Given the description of an element on the screen output the (x, y) to click on. 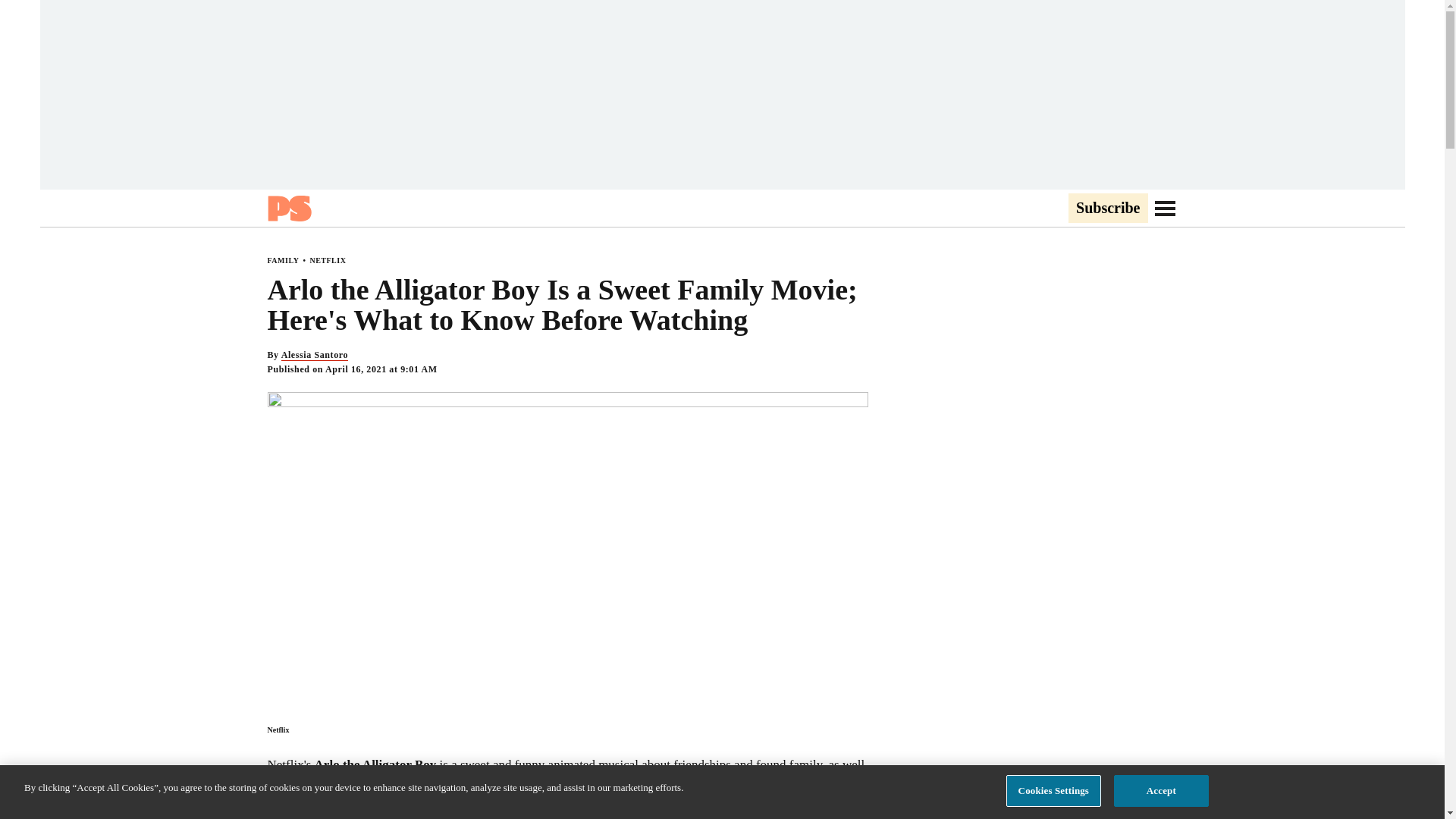
Alessia Santoro (314, 355)
Popsugar (288, 208)
NETFLIX (327, 260)
Go to Navigation (1164, 207)
Netflix's Arlo the Alligator Boy (350, 765)
Go to Navigation (1164, 207)
FAMILY (282, 260)
Netflix (277, 729)
Subscribe (1107, 208)
